Given the description of an element on the screen output the (x, y) to click on. 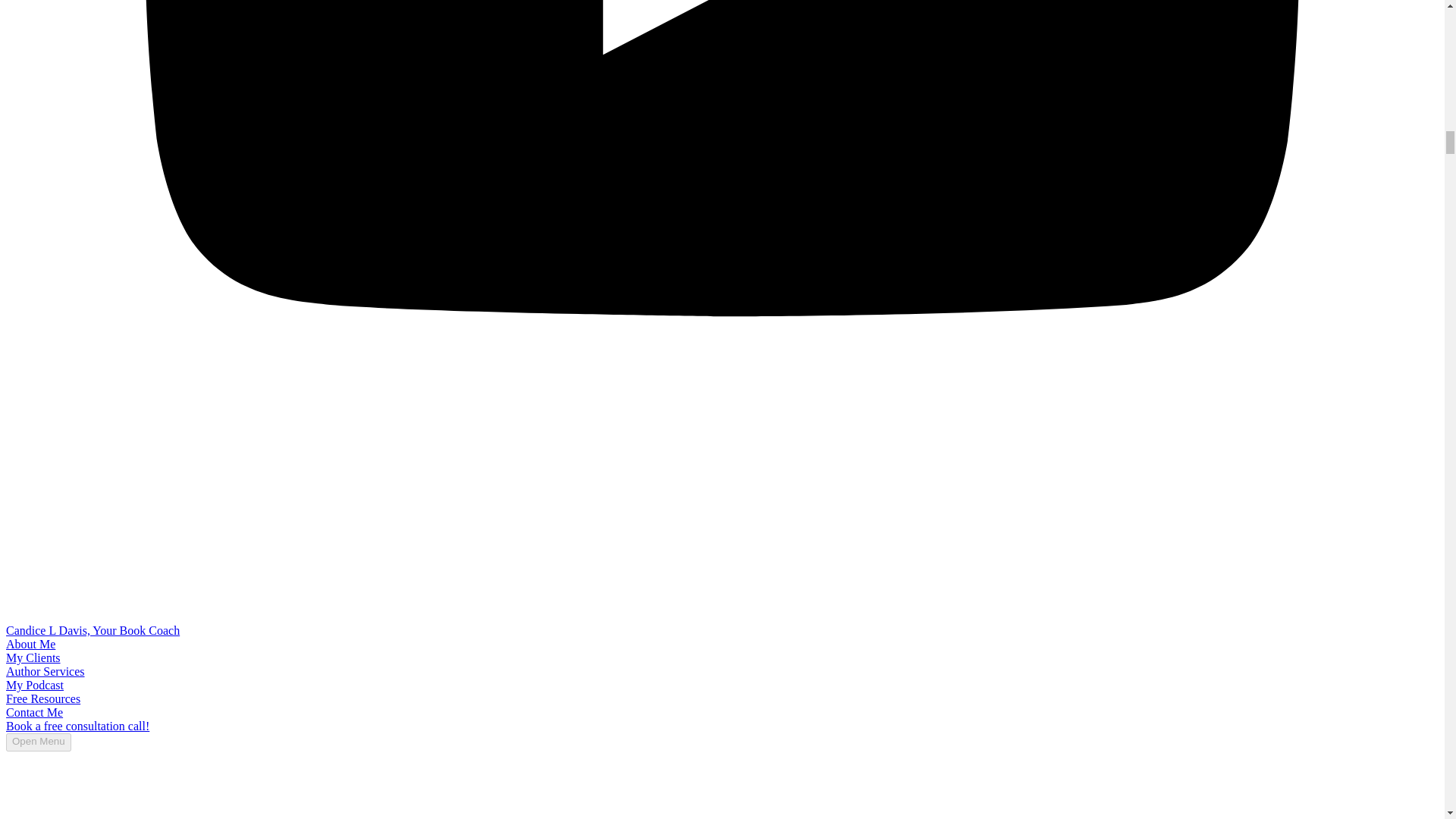
Contact Me (33, 712)
Free Resources (42, 698)
My Clients (33, 657)
My Podcast (34, 684)
About Me (30, 644)
Candice L Davis, Your Book Coach (92, 630)
Author Services (44, 671)
Book a free consultation call! (77, 725)
Open Menu (38, 742)
